Given the description of an element on the screen output the (x, y) to click on. 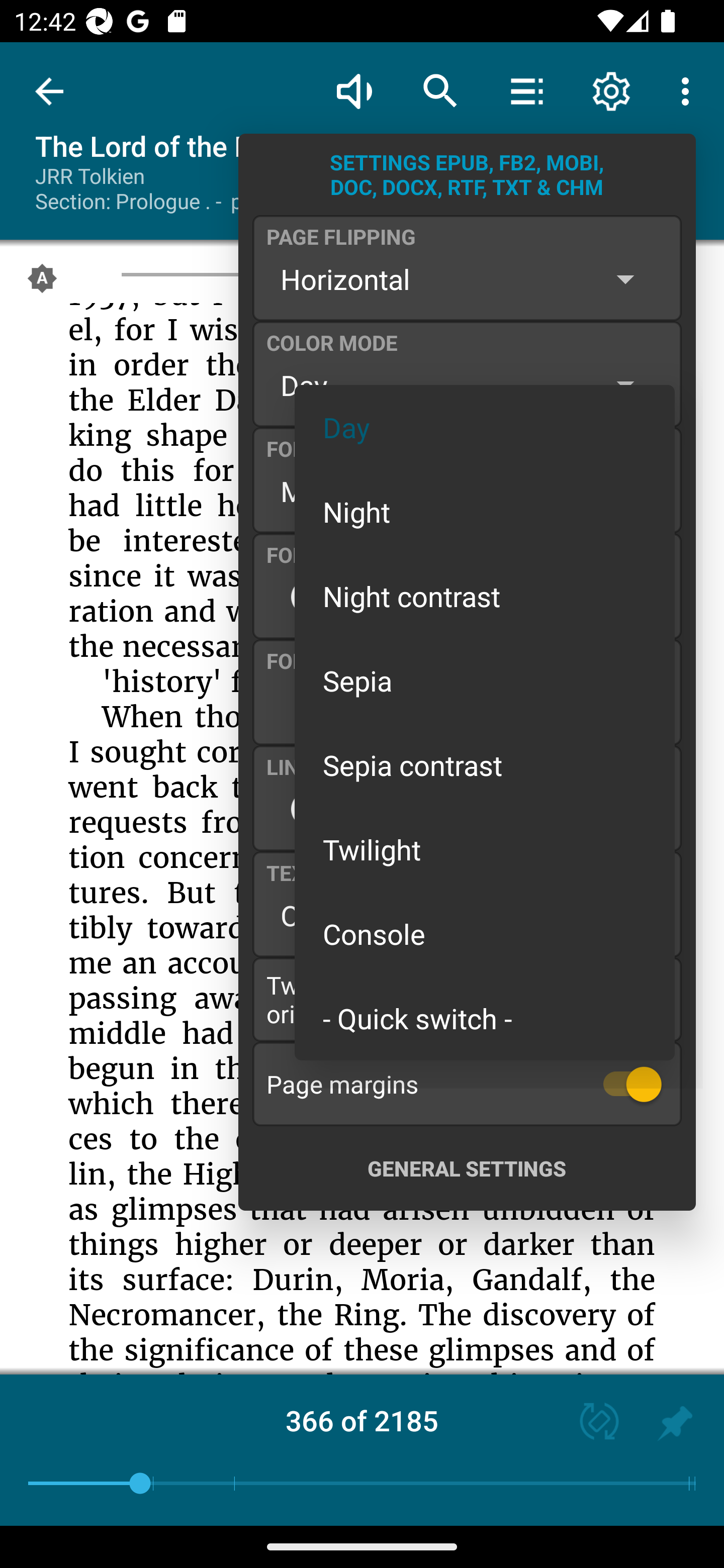
Day (484, 426)
Night (484, 510)
Night contrast (484, 595)
Sepia (484, 680)
Sepia contrast (484, 764)
Twilight (484, 849)
Console (484, 933)
- Quick switch - (484, 1017)
